Given the description of an element on the screen output the (x, y) to click on. 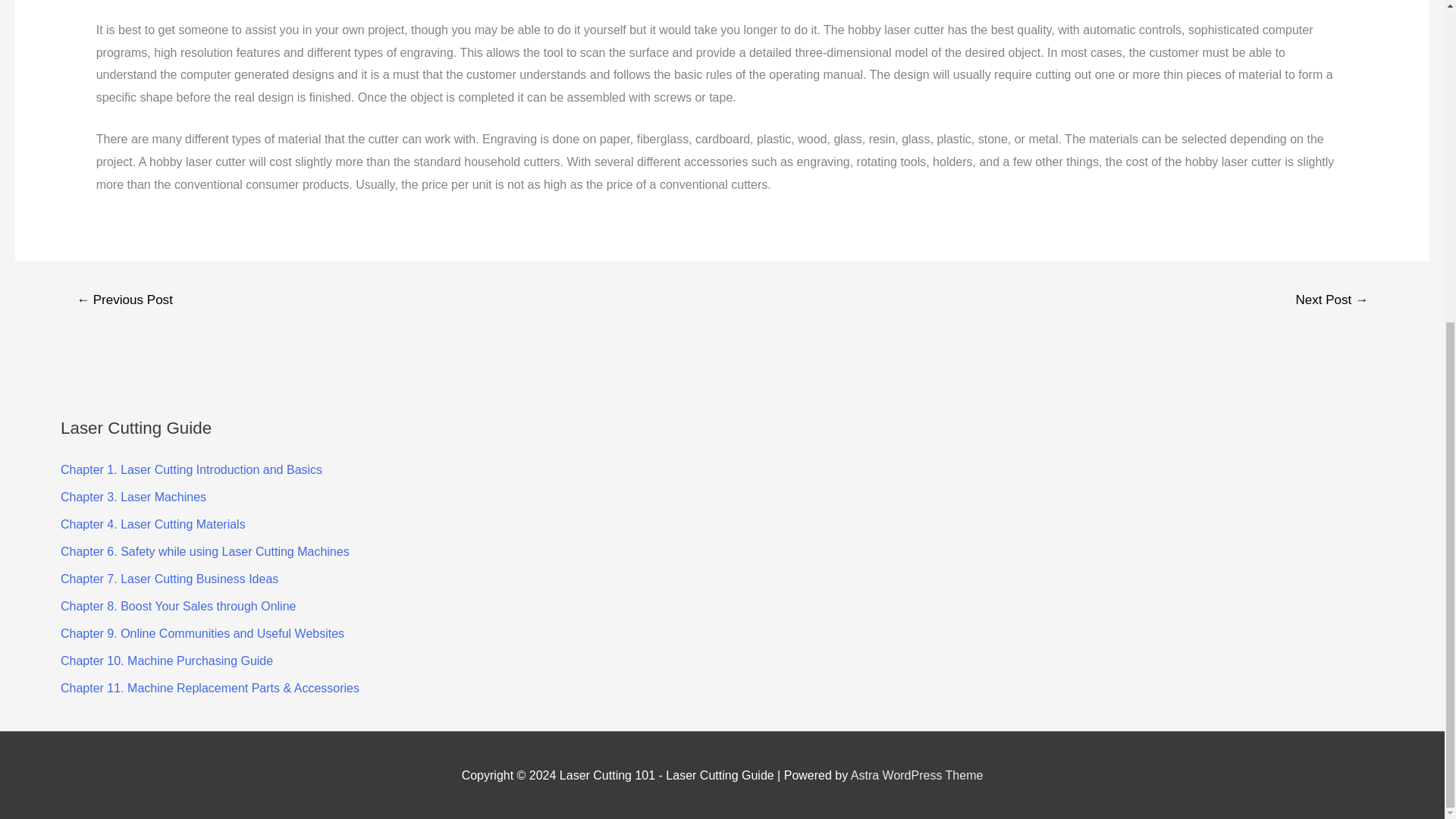
Chapter 8. Boost Your Sales through Online (178, 605)
Chapter 3. Laser Machines (133, 496)
Chapter 6. Safety while using Laser Cutting Machines (205, 551)
Chapter 10. Machine Purchasing Guide (167, 660)
Chapter 4. Laser Cutting Materials (153, 523)
Chapter 7. Laser Cutting Business Ideas (169, 578)
Chapter 9. Online Communities and Useful Websites (202, 633)
Chapter 1. Laser Cutting Introduction and Basics (191, 469)
Astra WordPress Theme (917, 774)
